Given the description of an element on the screen output the (x, y) to click on. 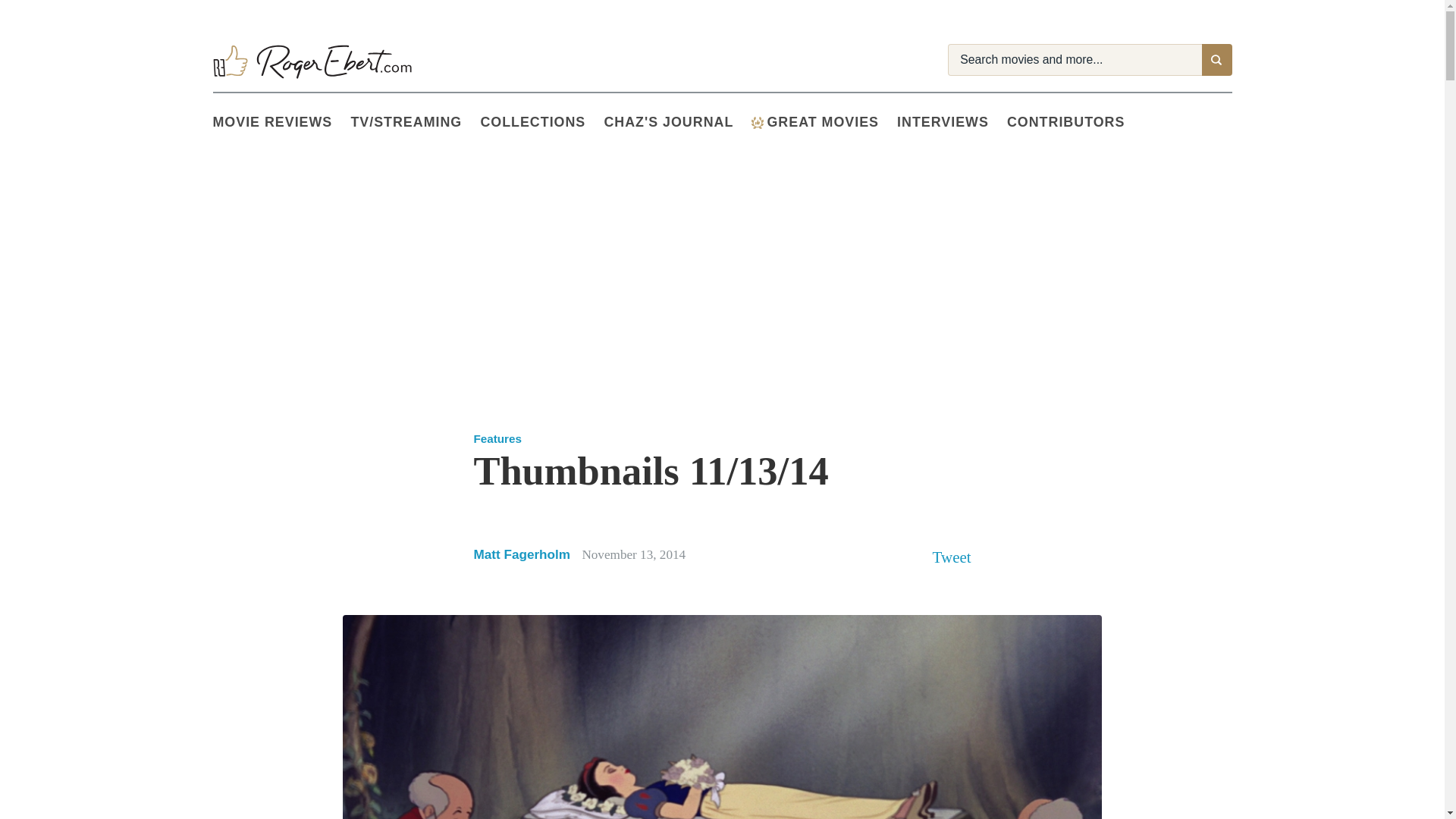
Contributors (1074, 122)
CONTRIBUTORS (1074, 122)
Great Movies (823, 122)
INTERVIEWS (951, 122)
Chaz's Journal (677, 122)
Movie Reviews (281, 122)
COLLECTIONS (542, 122)
Search (1216, 60)
Tweet (952, 556)
Collections (542, 122)
